Given the description of an element on the screen output the (x, y) to click on. 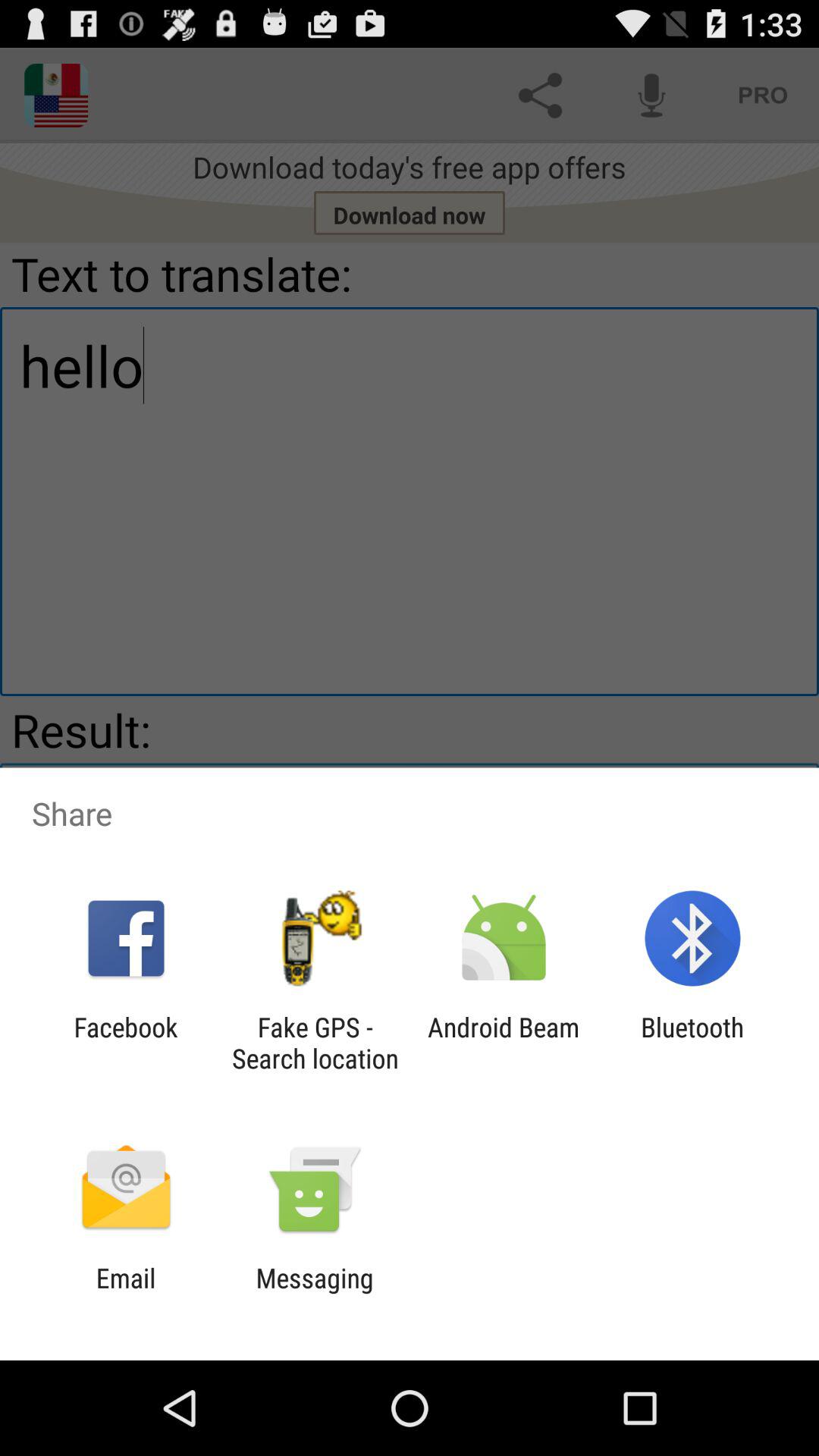
turn off app next to messaging icon (125, 1293)
